Given the description of an element on the screen output the (x, y) to click on. 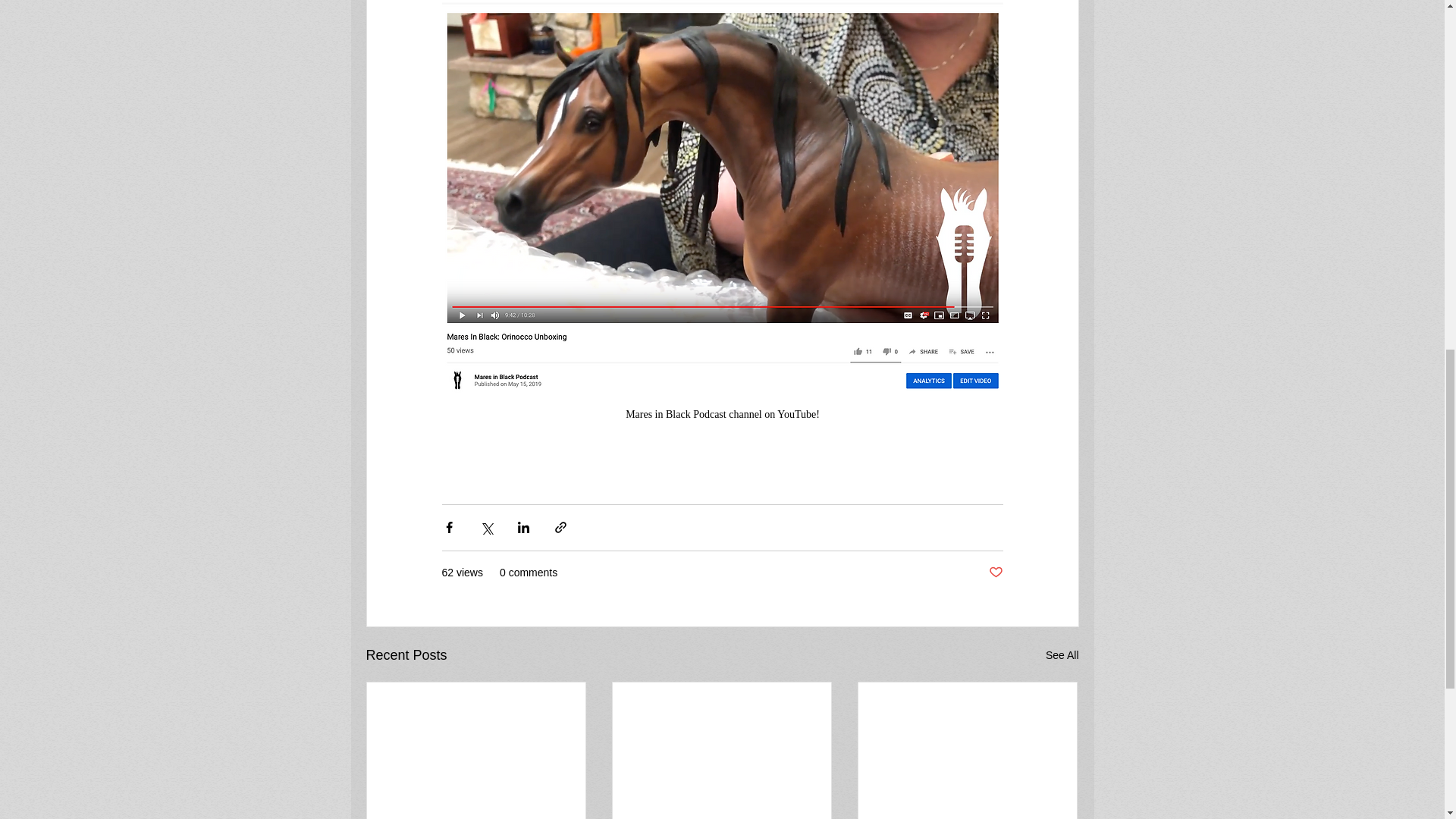
Post not marked as liked (995, 572)
See All (1061, 655)
